Given the description of an element on the screen output the (x, y) to click on. 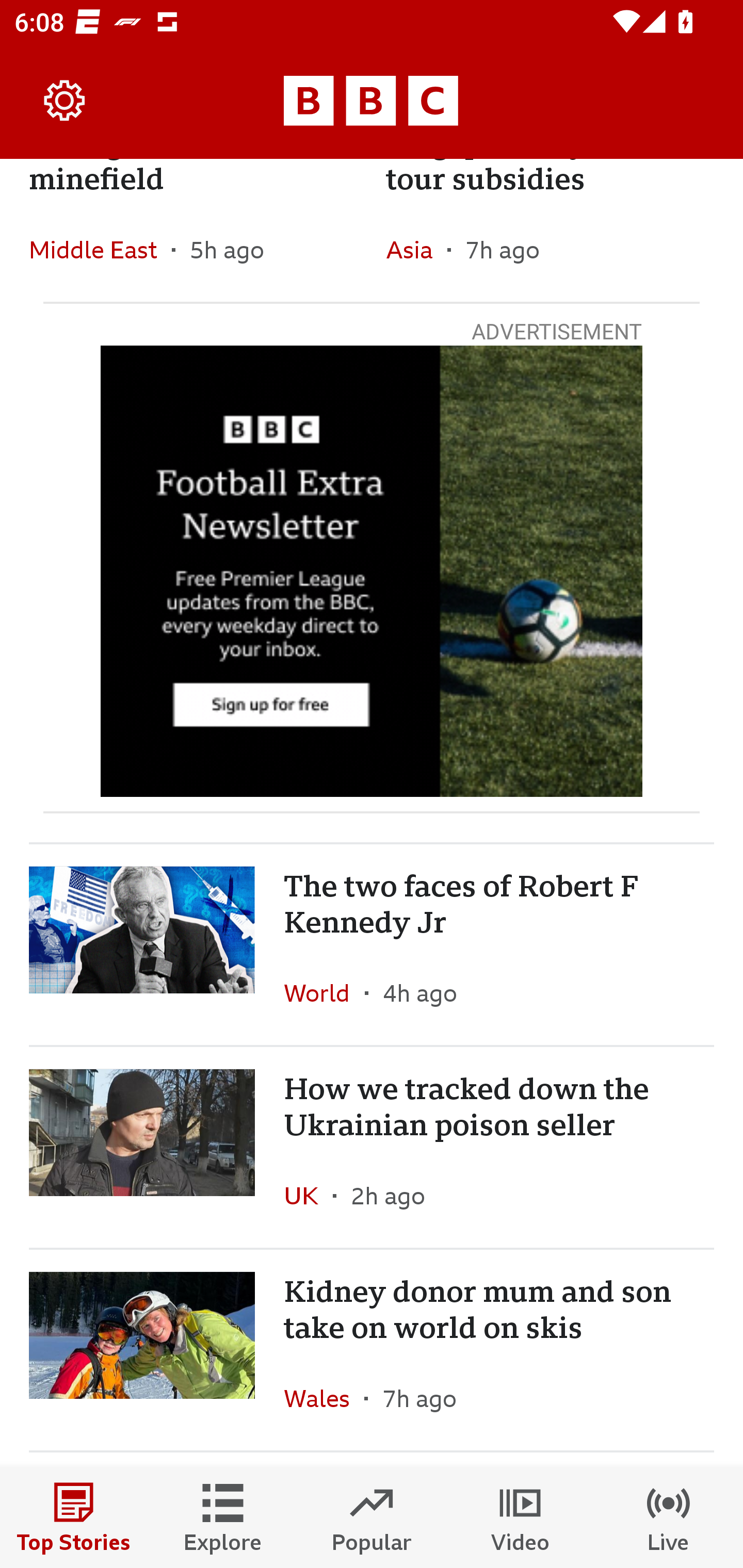
Settings (64, 100)
Middle East In the section Middle East (99, 249)
Asia In the section Asia (416, 249)
World In the section World (323, 992)
UK In the section UK (307, 1195)
Wales In the section Wales (323, 1398)
Explore (222, 1517)
Popular (371, 1517)
Video (519, 1517)
Live (668, 1517)
